Given the description of an element on the screen output the (x, y) to click on. 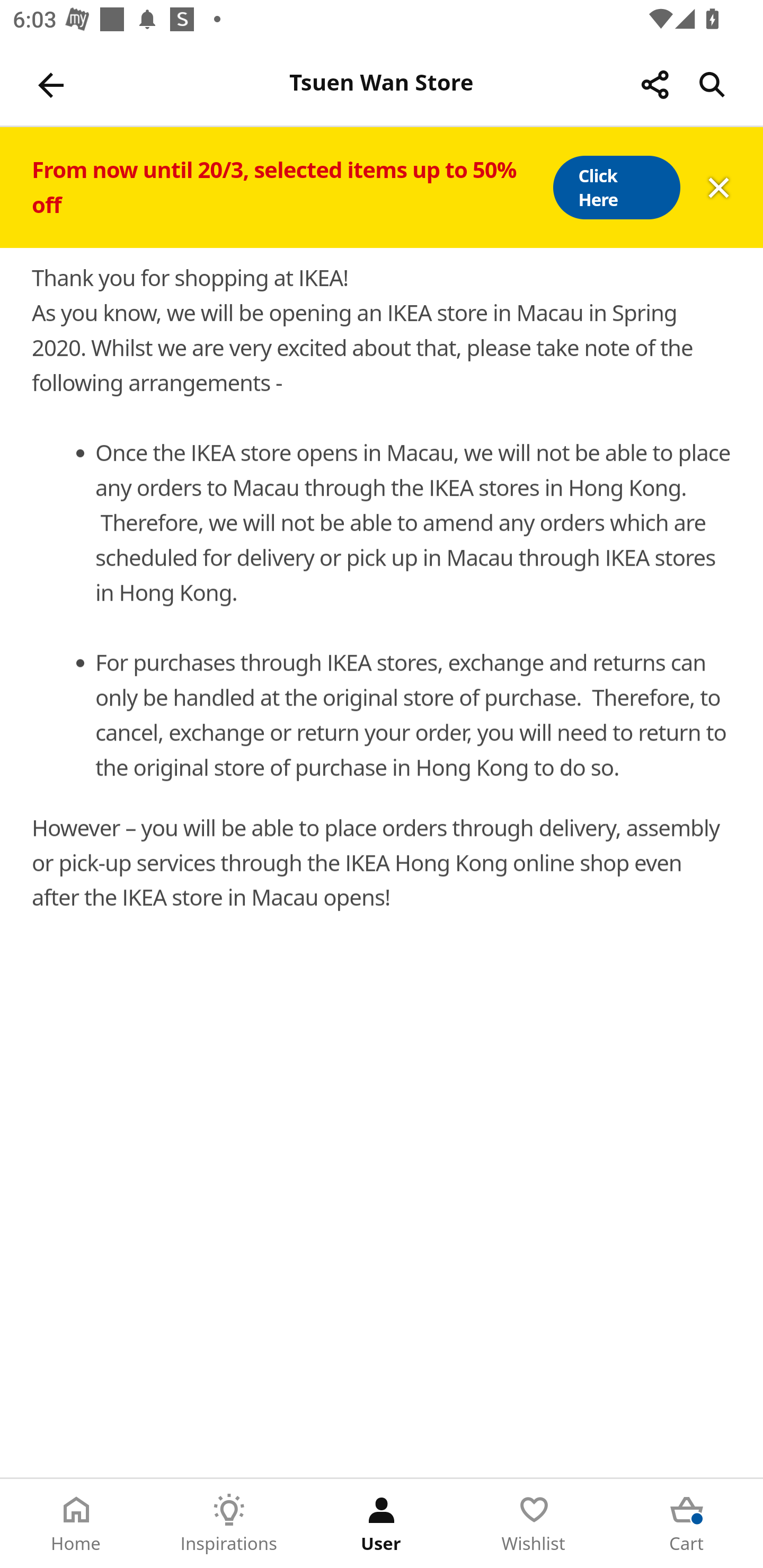
Click Here (615, 187)
Home
Tab 1 of 5 (76, 1522)
Inspirations
Tab 2 of 5 (228, 1522)
User
Tab 3 of 5 (381, 1522)
Wishlist
Tab 4 of 5 (533, 1522)
Cart
Tab 5 of 5 (686, 1522)
